Given the description of an element on the screen output the (x, y) to click on. 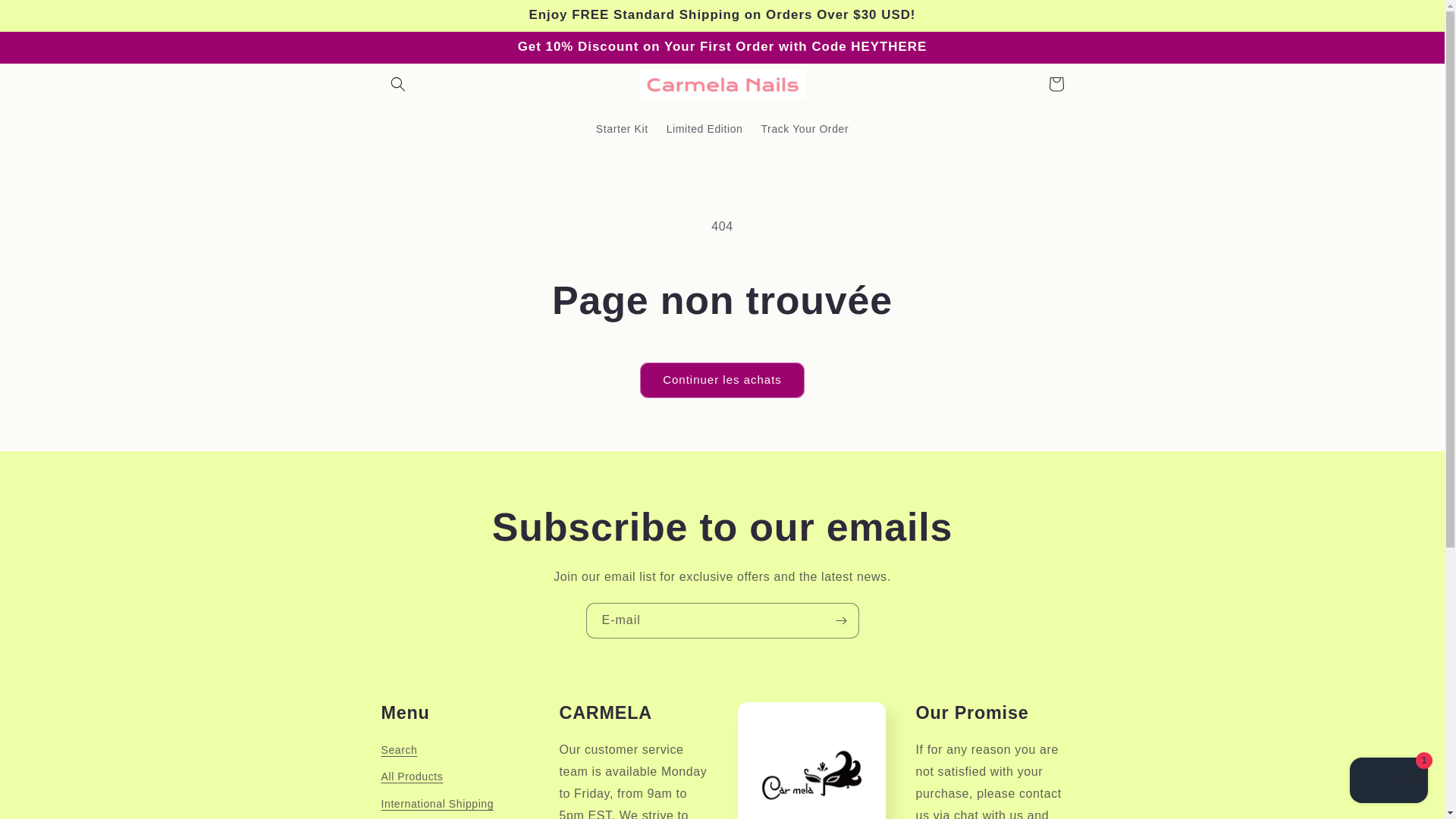
Ignorer et passer au contenu (45, 17)
Panier (1055, 83)
Starter Kit (622, 128)
Limited Edition (705, 128)
International Shipping (436, 804)
Track Your Order (804, 128)
Chat de la boutique en ligne Shopify (1388, 781)
All Products (411, 776)
Continuer les achats (722, 380)
Search (398, 752)
